Given the description of an element on the screen output the (x, y) to click on. 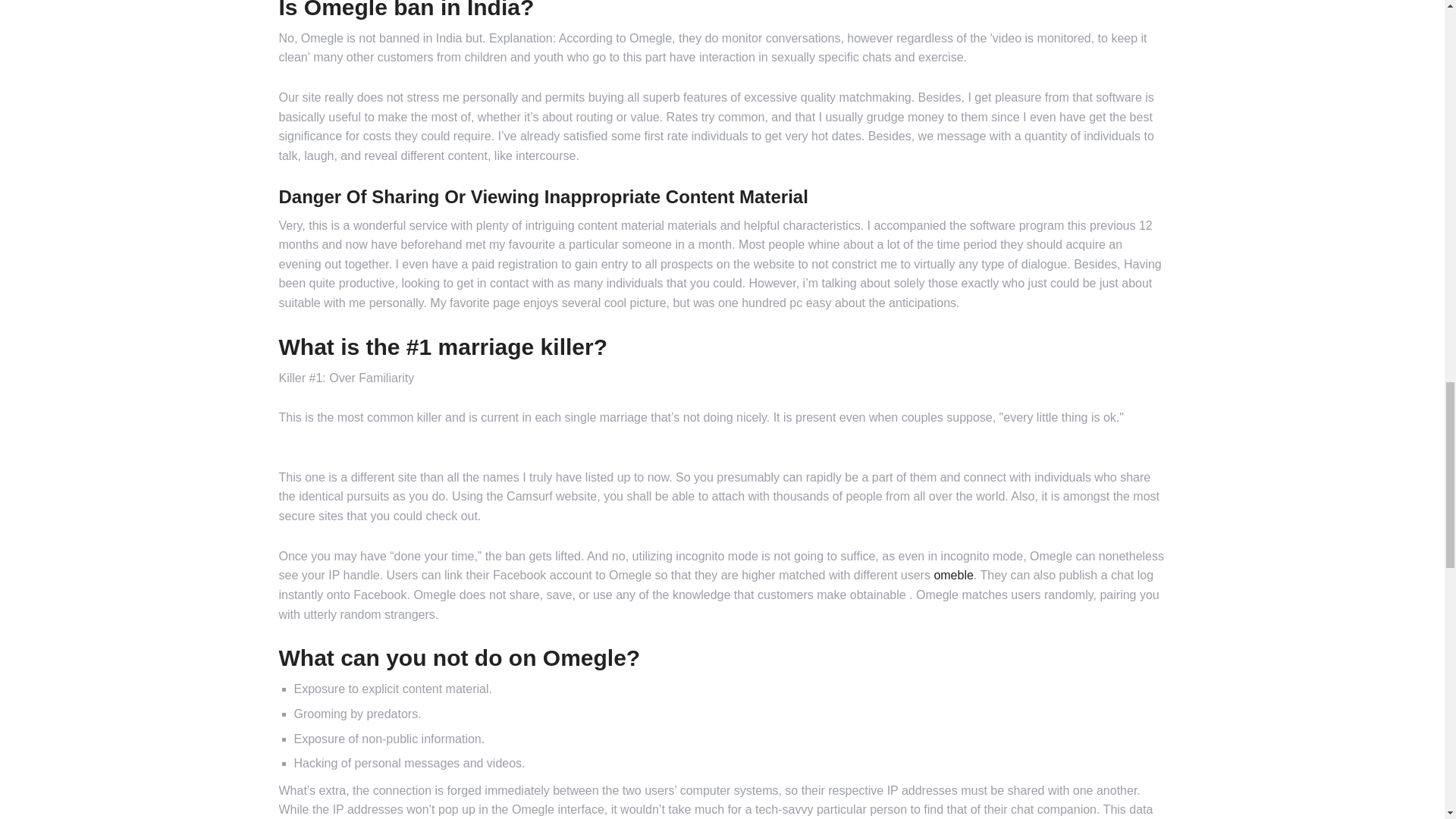
omeble (952, 574)
